Given the description of an element on the screen output the (x, y) to click on. 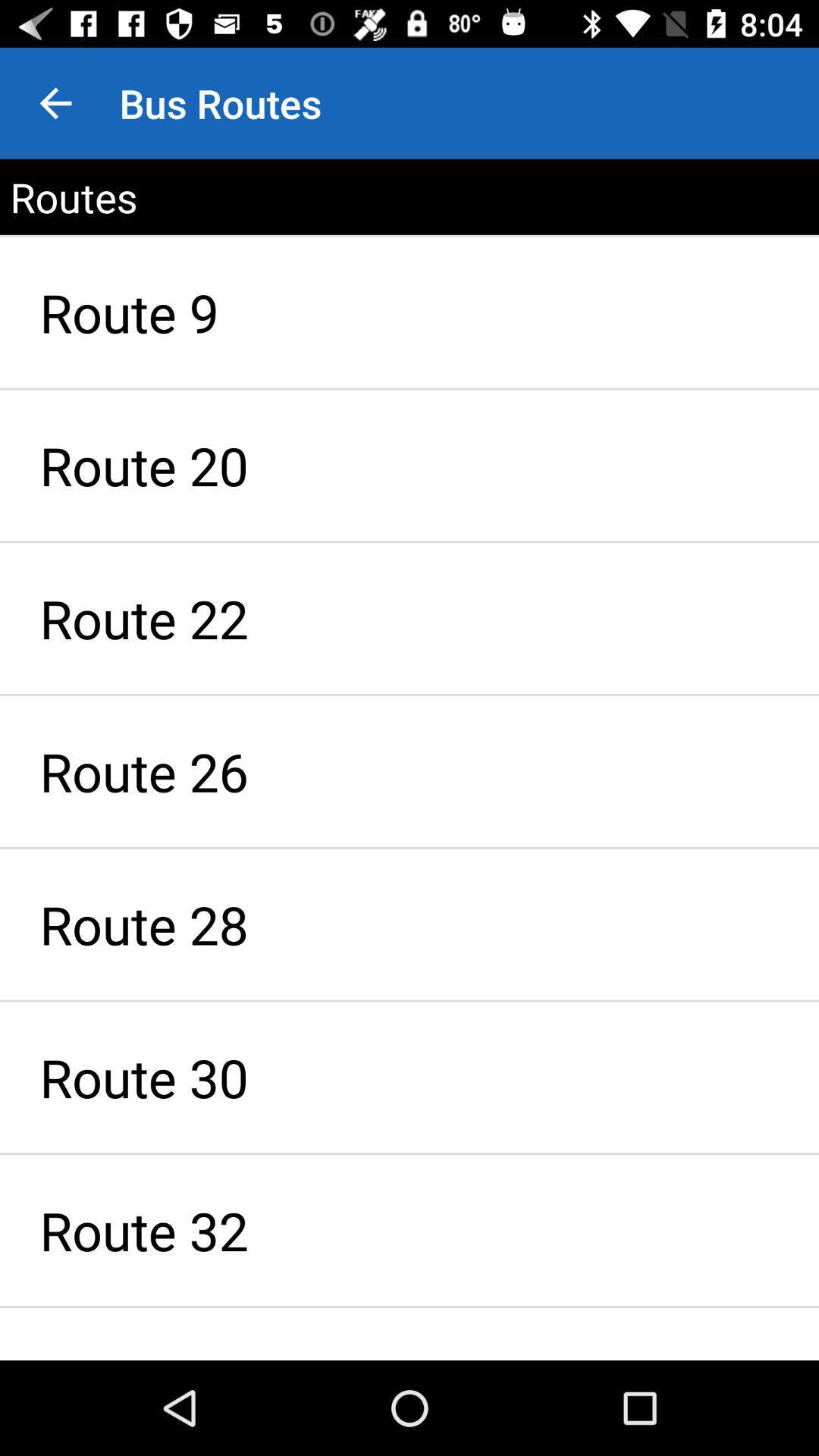
turn off the icon above route 26 (409, 618)
